Given the description of an element on the screen output the (x, y) to click on. 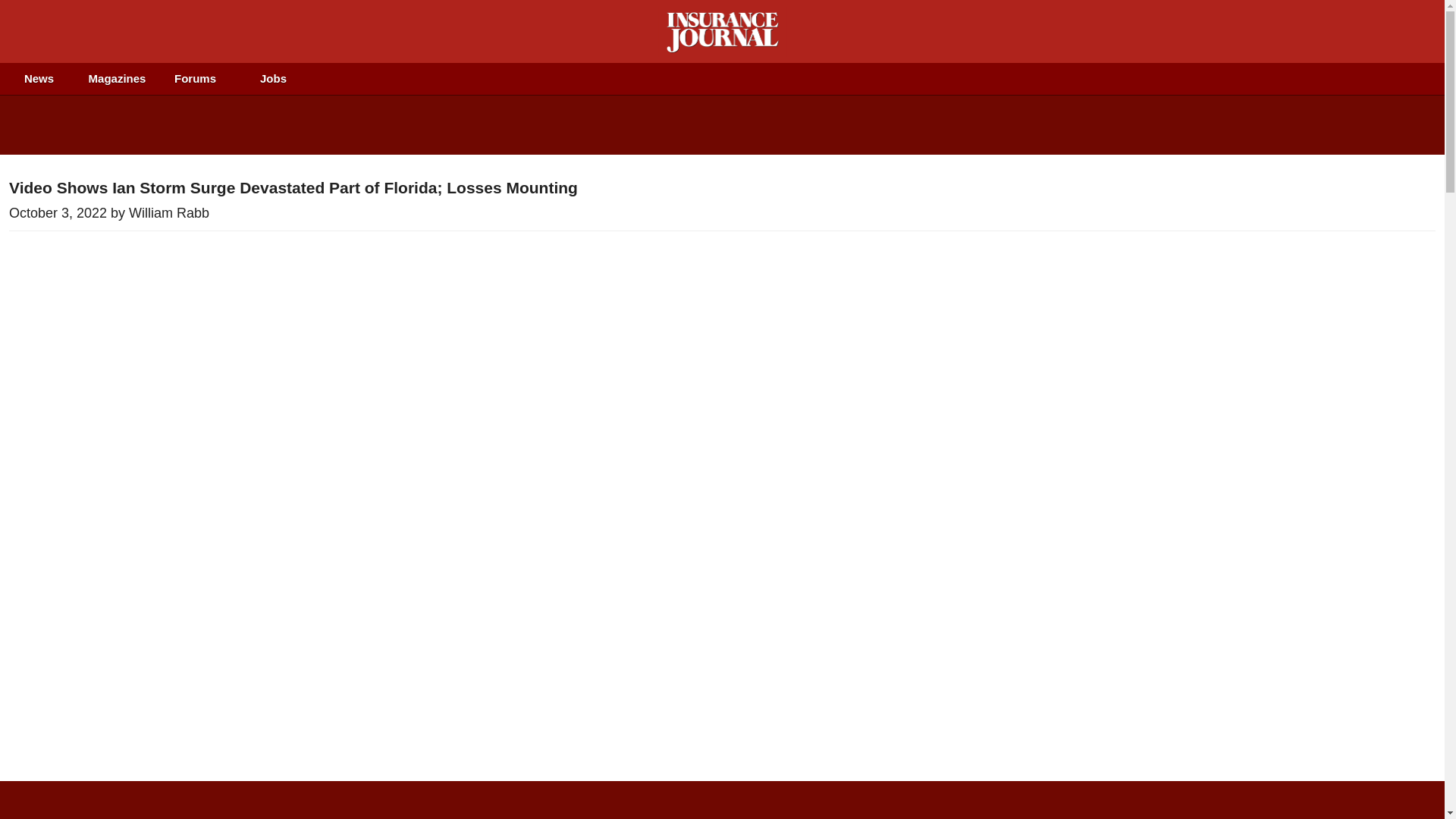
Forums (194, 79)
News (39, 79)
Jobs (273, 79)
Magazines (116, 79)
